Given the description of an element on the screen output the (x, y) to click on. 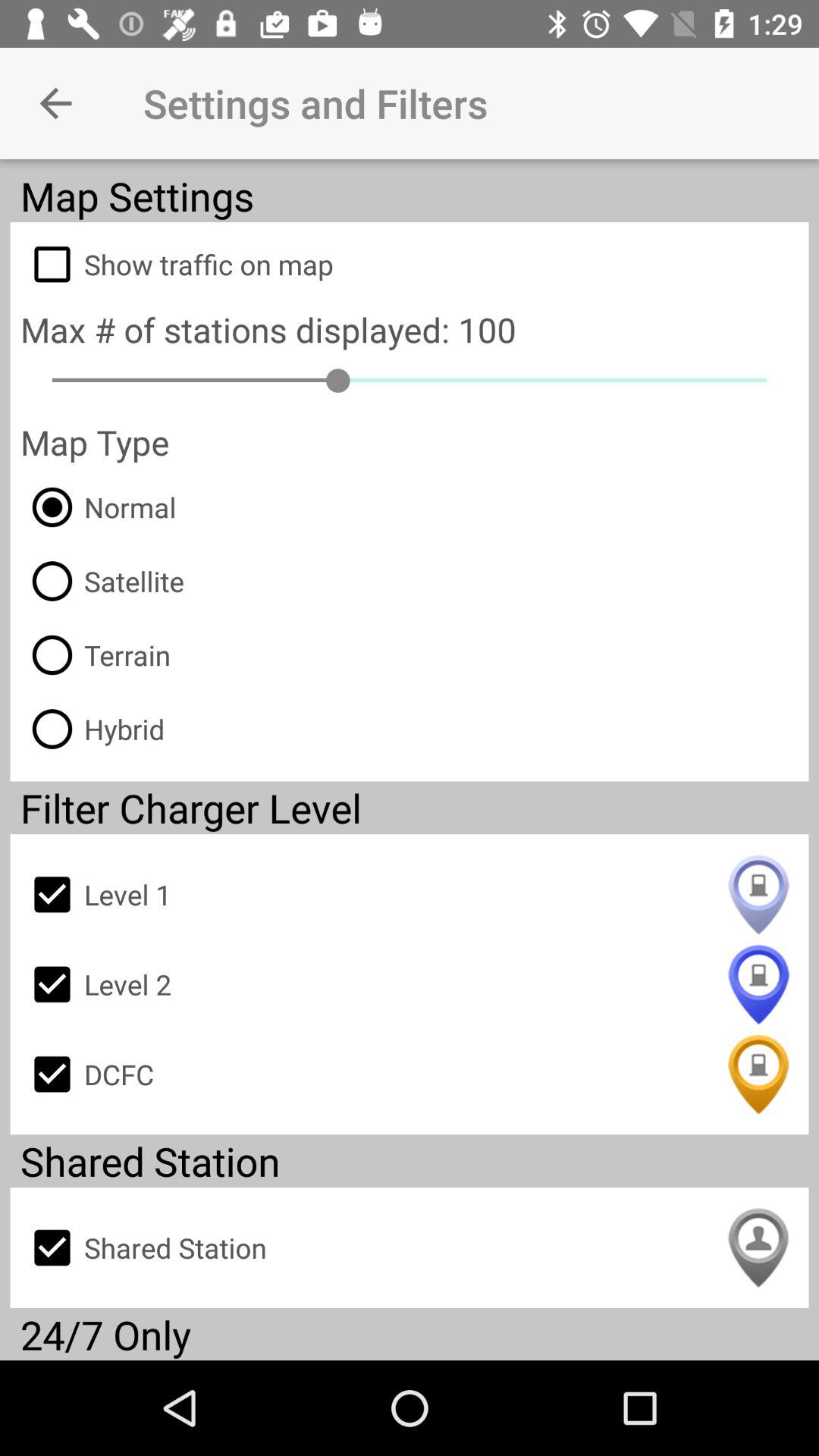
swipe to show traffic on (409, 264)
